Given the description of an element on the screen output the (x, y) to click on. 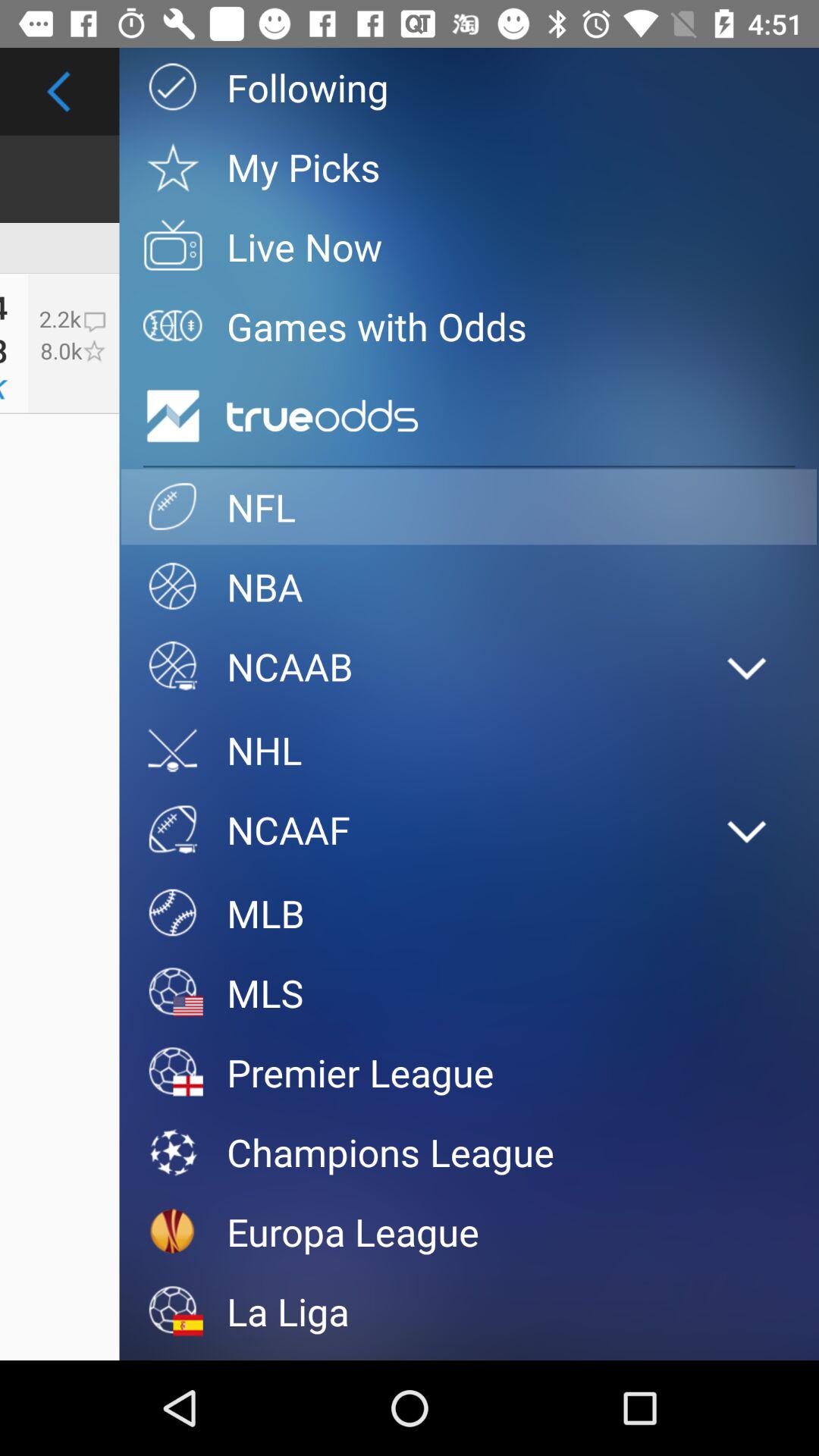
press the nba (469, 586)
